Given the description of an element on the screen output the (x, y) to click on. 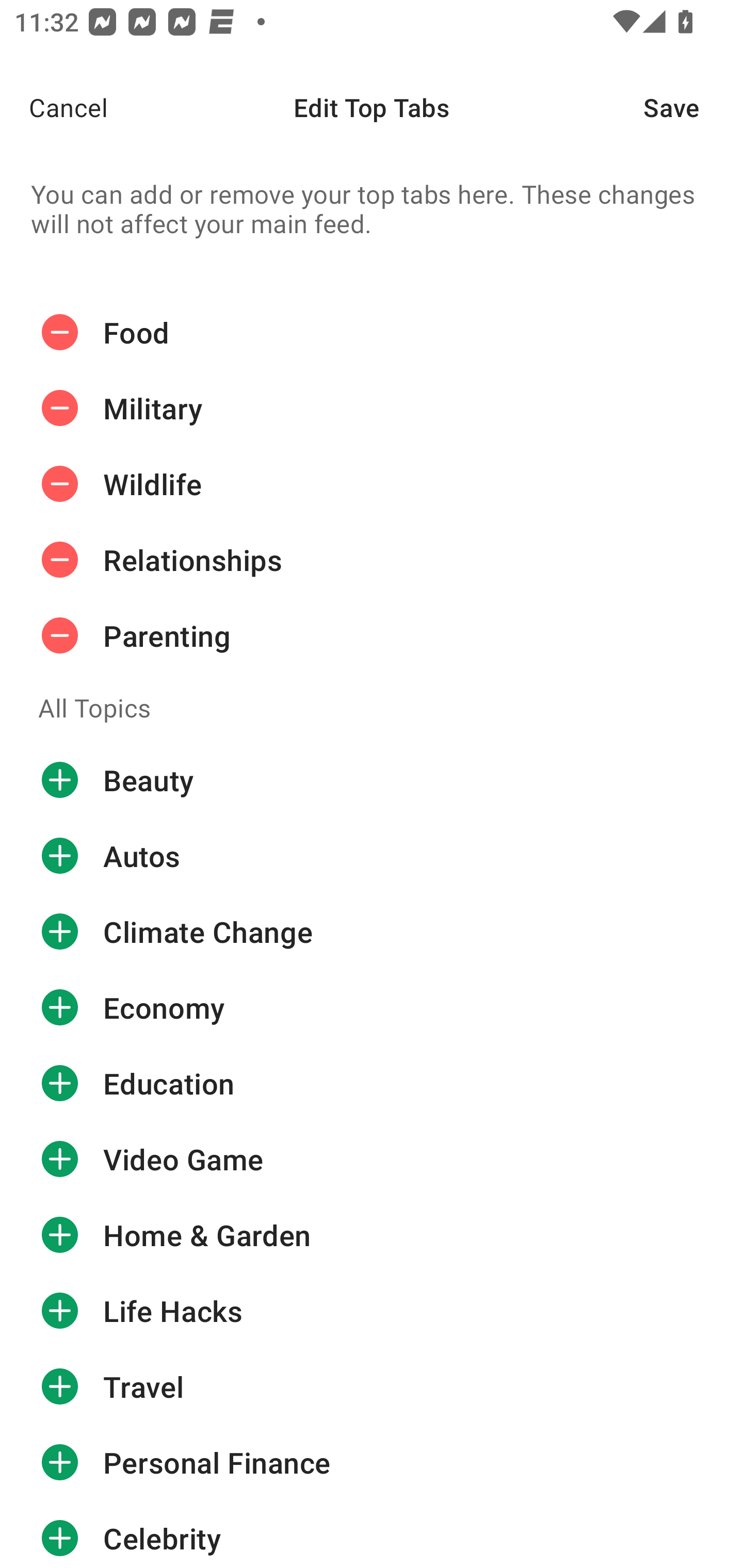
Cancel (53, 106)
Save (693, 106)
Food (371, 332)
Military (371, 408)
Wildlife (371, 484)
Relationships (371, 559)
Parenting (371, 635)
Beauty (371, 779)
Autos (371, 855)
Climate Change (371, 931)
Economy (371, 1007)
Education (371, 1083)
Video Game (371, 1158)
Home & Garden (371, 1234)
Life Hacks (371, 1310)
Travel (371, 1386)
Personal Finance (371, 1462)
Celebrity (371, 1534)
